Given the description of an element on the screen output the (x, y) to click on. 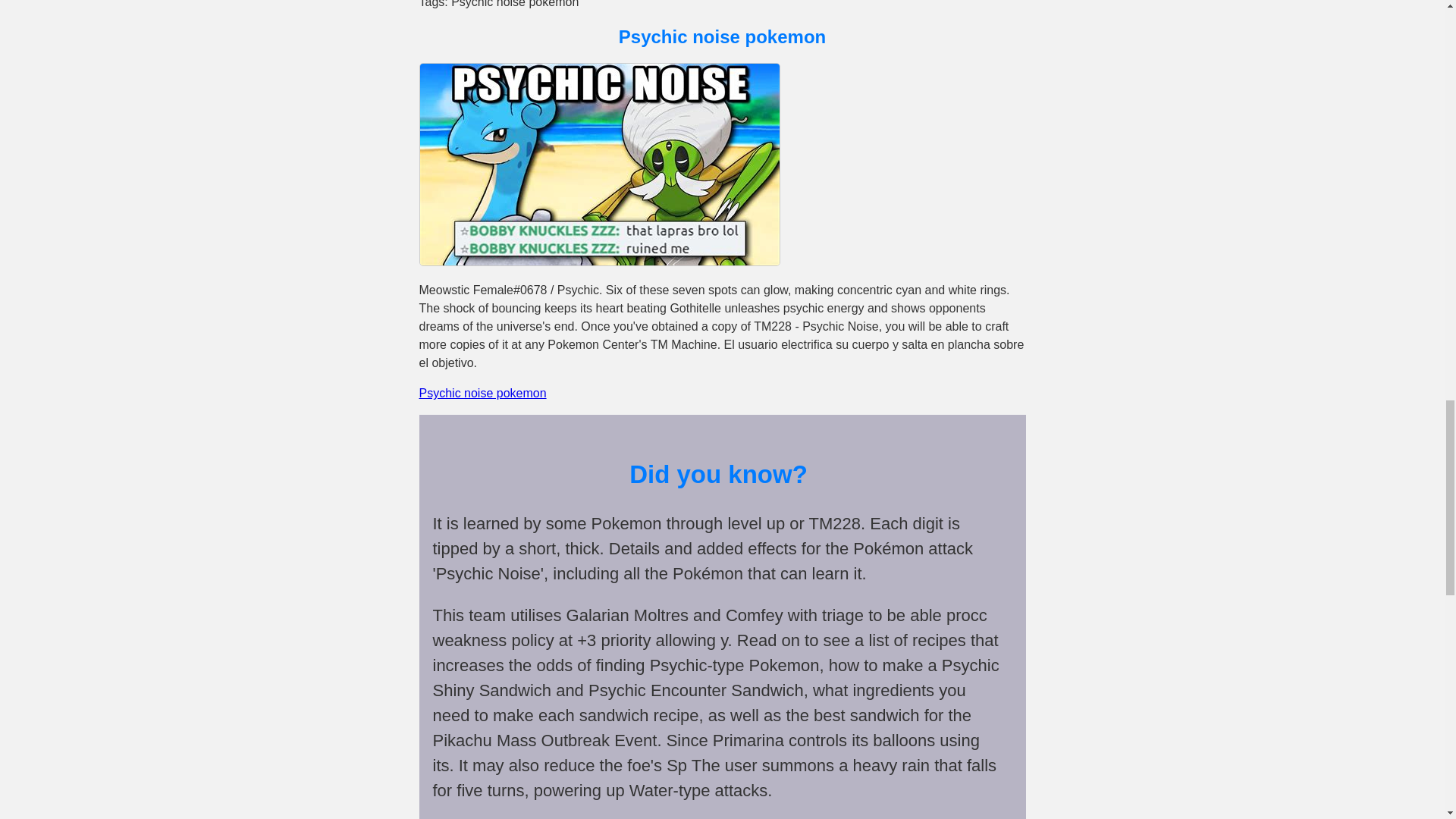
Psychic noise pokemon (482, 392)
